Given the description of an element on the screen output the (x, y) to click on. 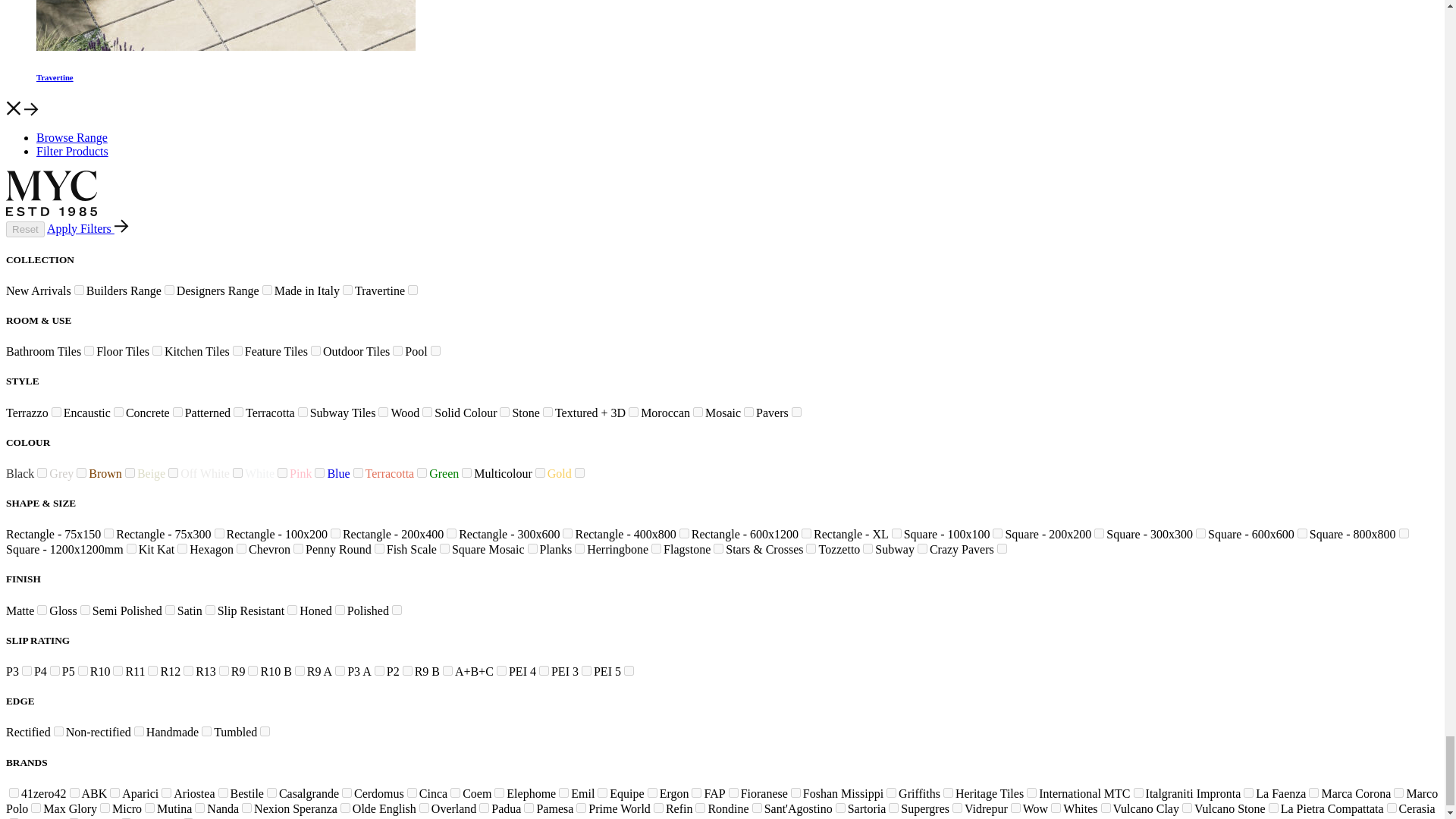
152 (398, 350)
149 (89, 350)
138493 (412, 289)
155 (118, 411)
161 (55, 411)
153 (435, 350)
154 (315, 350)
147 (79, 289)
148 (347, 289)
150 (237, 350)
151 (156, 350)
145 (169, 289)
146 (267, 289)
